Given the description of an element on the screen output the (x, y) to click on. 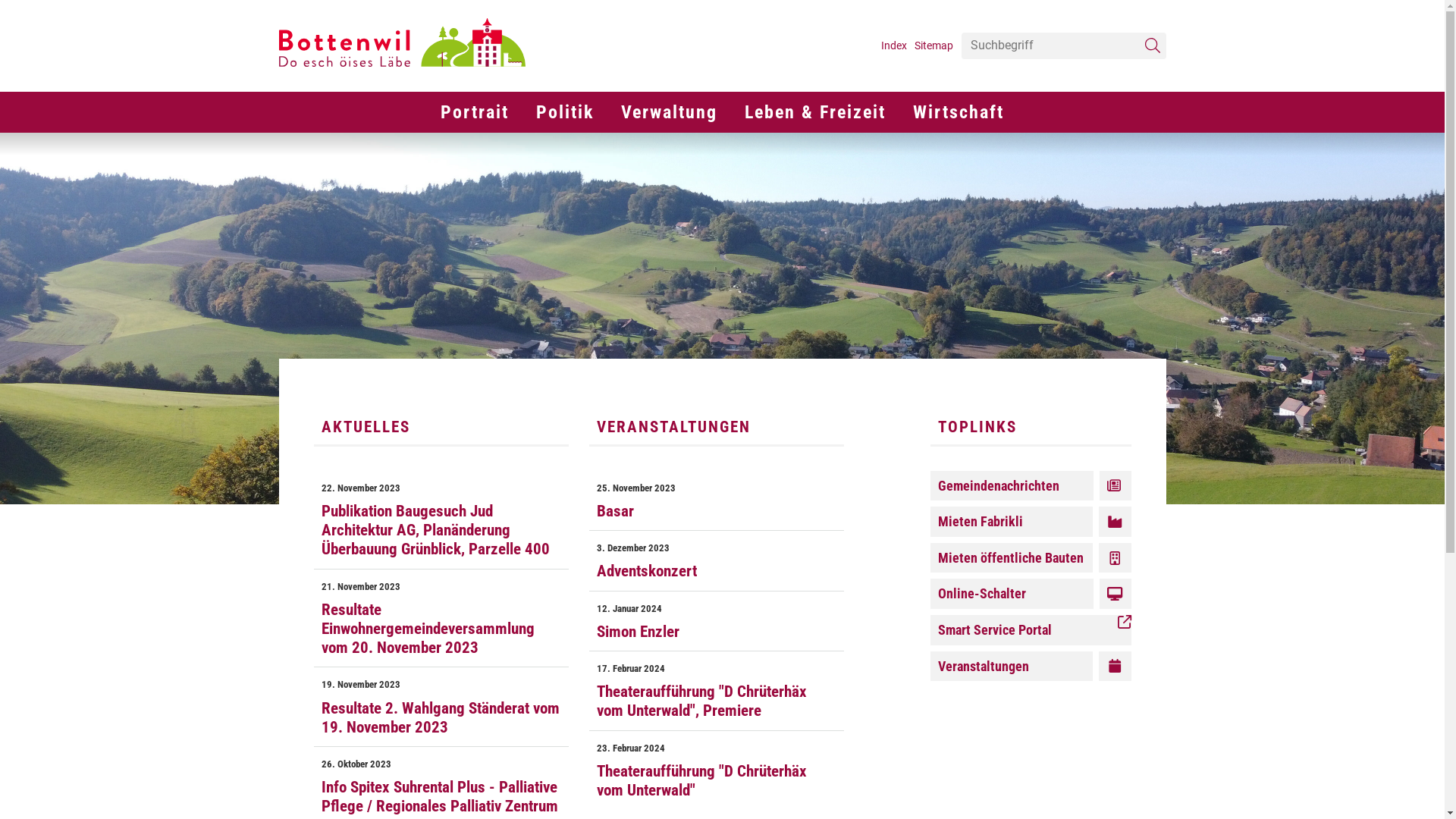
AKTUELLES Element type: text (441, 426)
Online-Schalter Element type: text (1029, 593)
Willkommen Element type: text (551, 145)
Adventskonzert Element type: text (716, 570)
Wirtschaft Element type: text (898, 91)
Politik Element type: text (564, 111)
Gewerbe Element type: text (892, 145)
Portrait Element type: text (426, 91)
Abteilungen Element type: text (732, 145)
Verwaltung Element type: text (669, 111)
Gemeindeversammlung Element type: text (647, 145)
Gemeindenachrichten Element type: text (1029, 485)
Suche starten Element type: text (1152, 45)
Portrait Element type: text (474, 111)
Wirtschaft Element type: text (958, 111)
Veranstaltungen Element type: text (1029, 666)
Mieten Fabrikli Element type: text (1029, 521)
Index Element type: text (893, 45)
Smart Service Portal Element type: text (1029, 630)
Basar Element type: text (716, 511)
VERANSTALTUNGEN Element type: text (716, 426)
Leben & Freizeit Element type: text (815, 111)
Verwaltung Element type: text (606, 91)
Sitemap Element type: text (933, 45)
Leben & Freizeit Element type: text (730, 91)
Simon Enzler Element type: text (716, 631)
Politik Element type: text (521, 91)
Resultate Einwohnergemeindeversammlung vom 20. November 2023 Element type: text (441, 629)
